Given the description of an element on the screen output the (x, y) to click on. 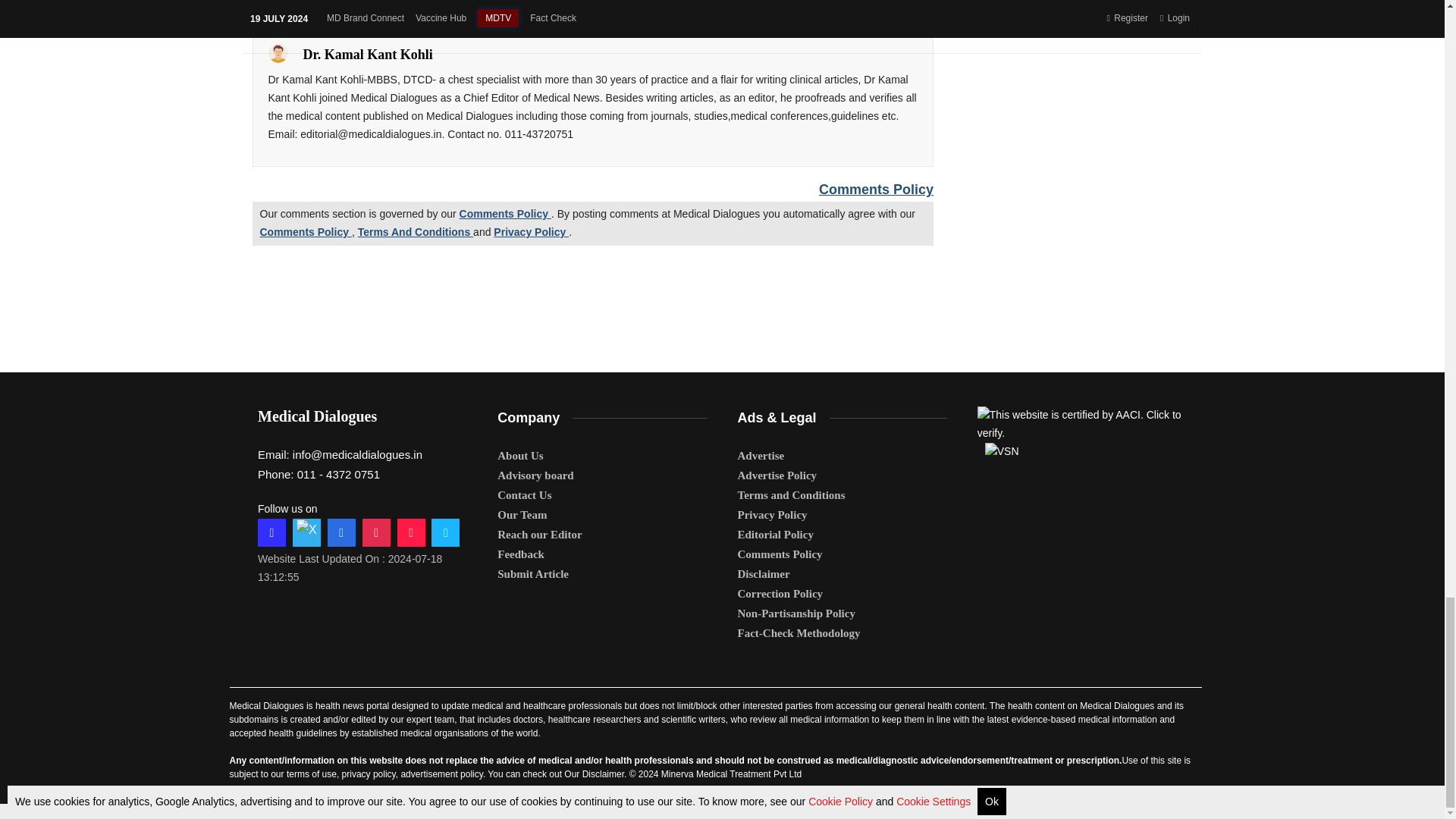
Dr. Kamal Kant Kohli (277, 53)
